Given the description of an element on the screen output the (x, y) to click on. 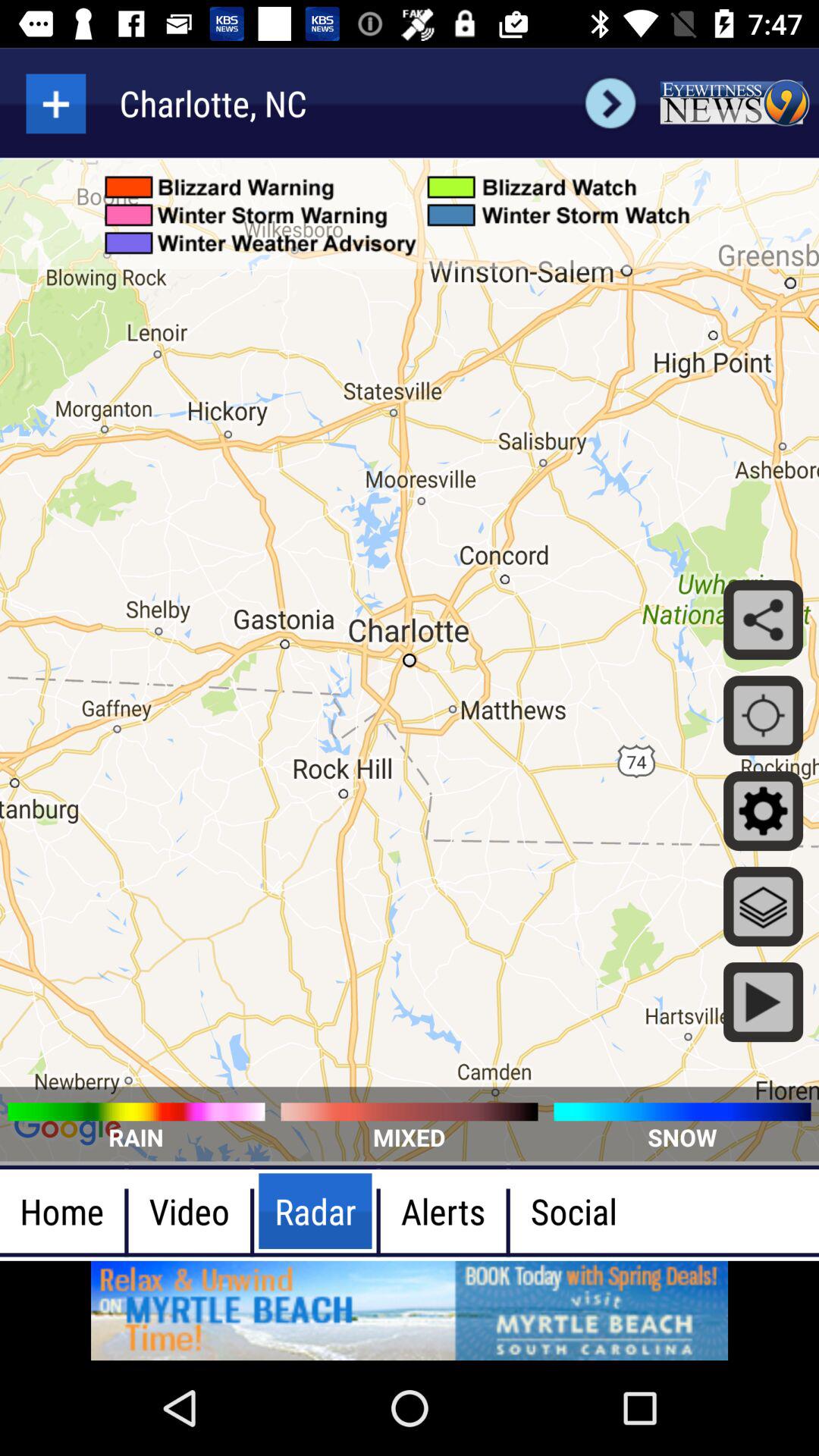
click on the blue colored box that reads radar (314, 1210)
